Given the description of an element on the screen output the (x, y) to click on. 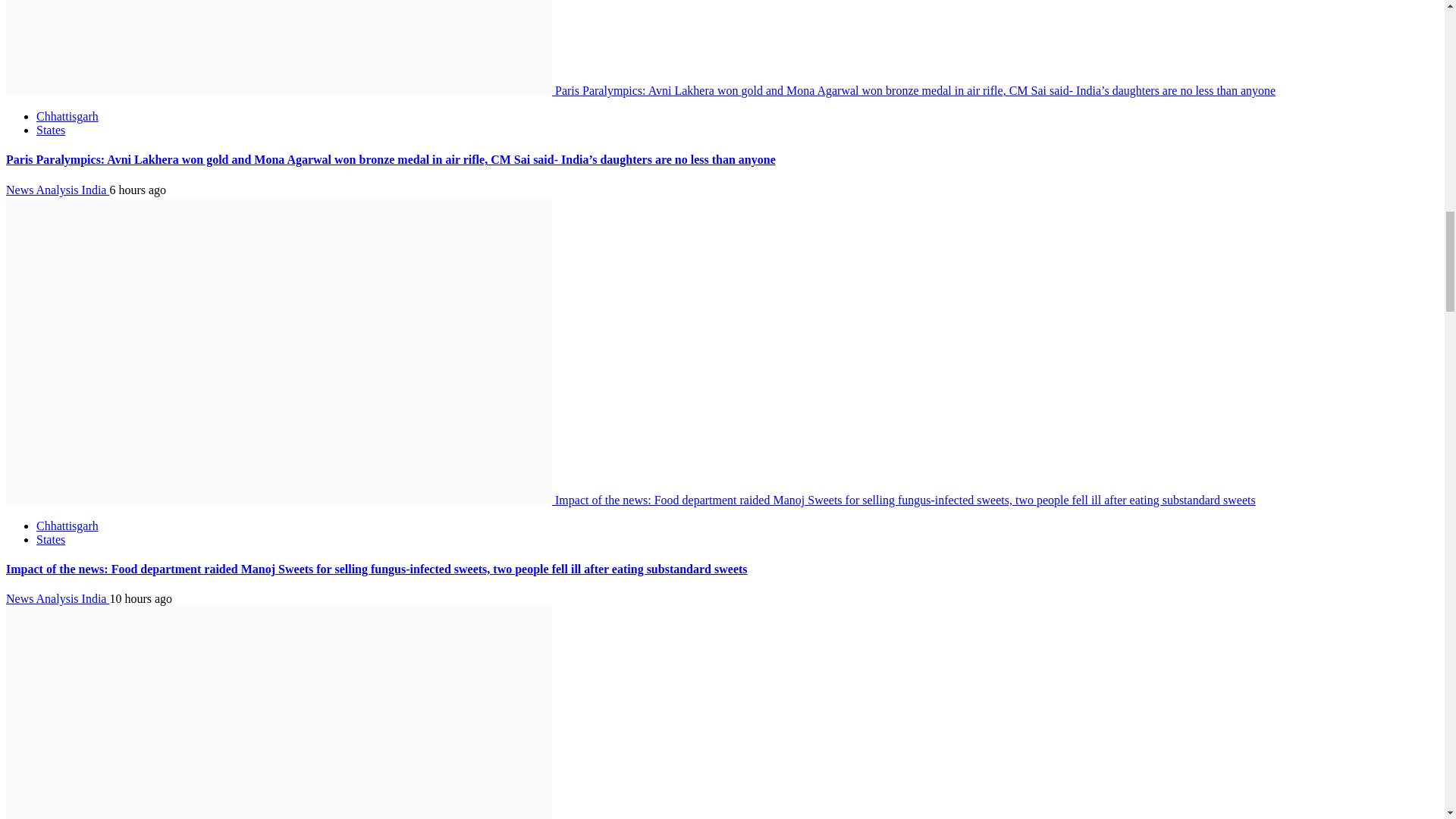
Chhattisgarh (67, 525)
News Analysis India (57, 189)
States (50, 129)
Chhattisgarh (67, 115)
